Given the description of an element on the screen output the (x, y) to click on. 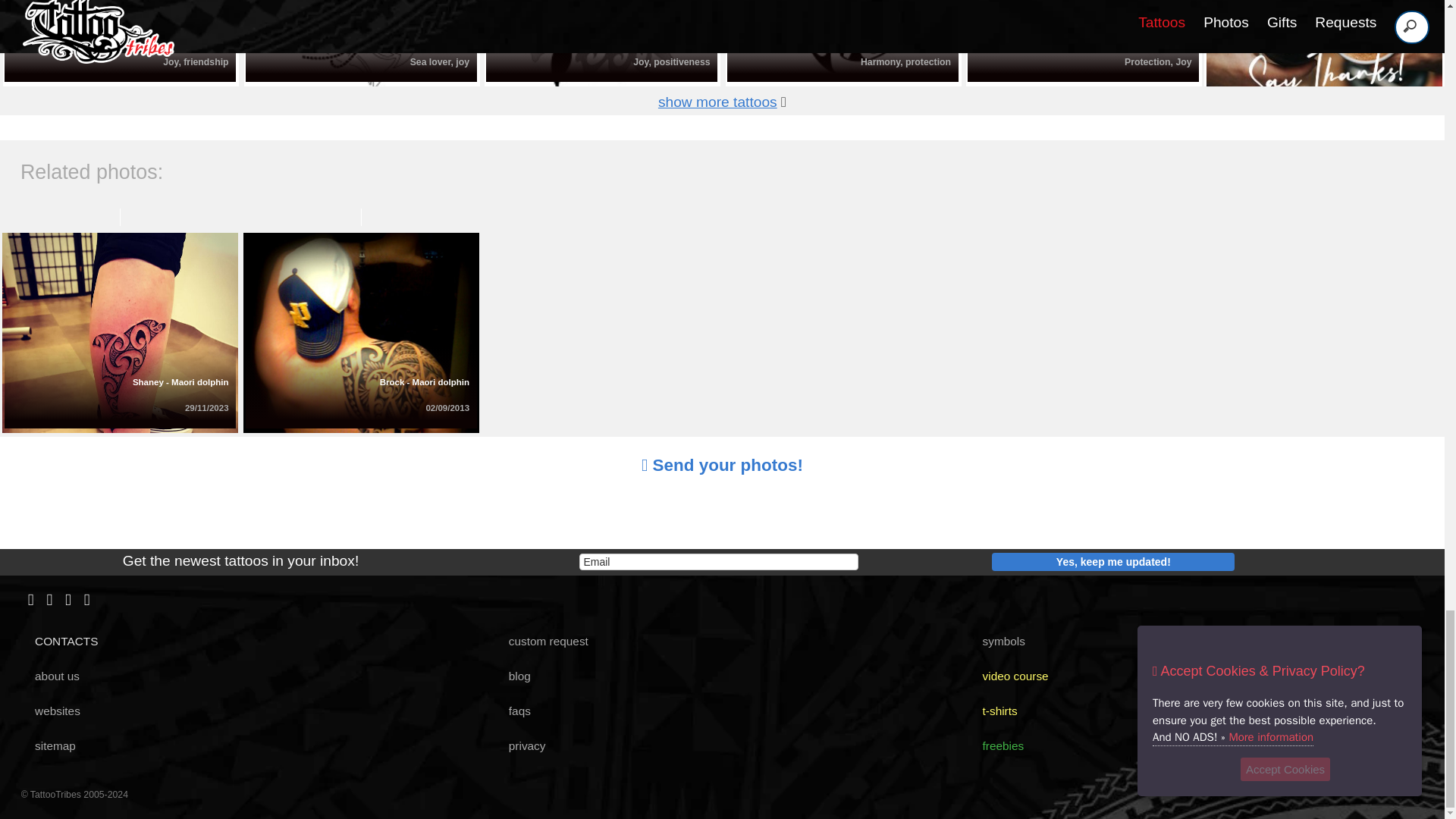
TattooTribes on Pinterest (49, 600)
sitemap (49, 745)
Polynesian Tattoos 101 video course (1009, 675)
TattooTribes on Instagram (68, 600)
About us (51, 675)
Custom tattoo requests (542, 640)
TattooTribes RSS feed (87, 600)
TattooTribes on Facebook (30, 600)
Polynesian tattoo symbols wiki (998, 640)
Artists contacts (61, 640)
Privacy policy (520, 745)
Frequently Asked Questions (512, 710)
Our websites (51, 710)
TattooTribes blog (512, 675)
